Given the description of an element on the screen output the (x, y) to click on. 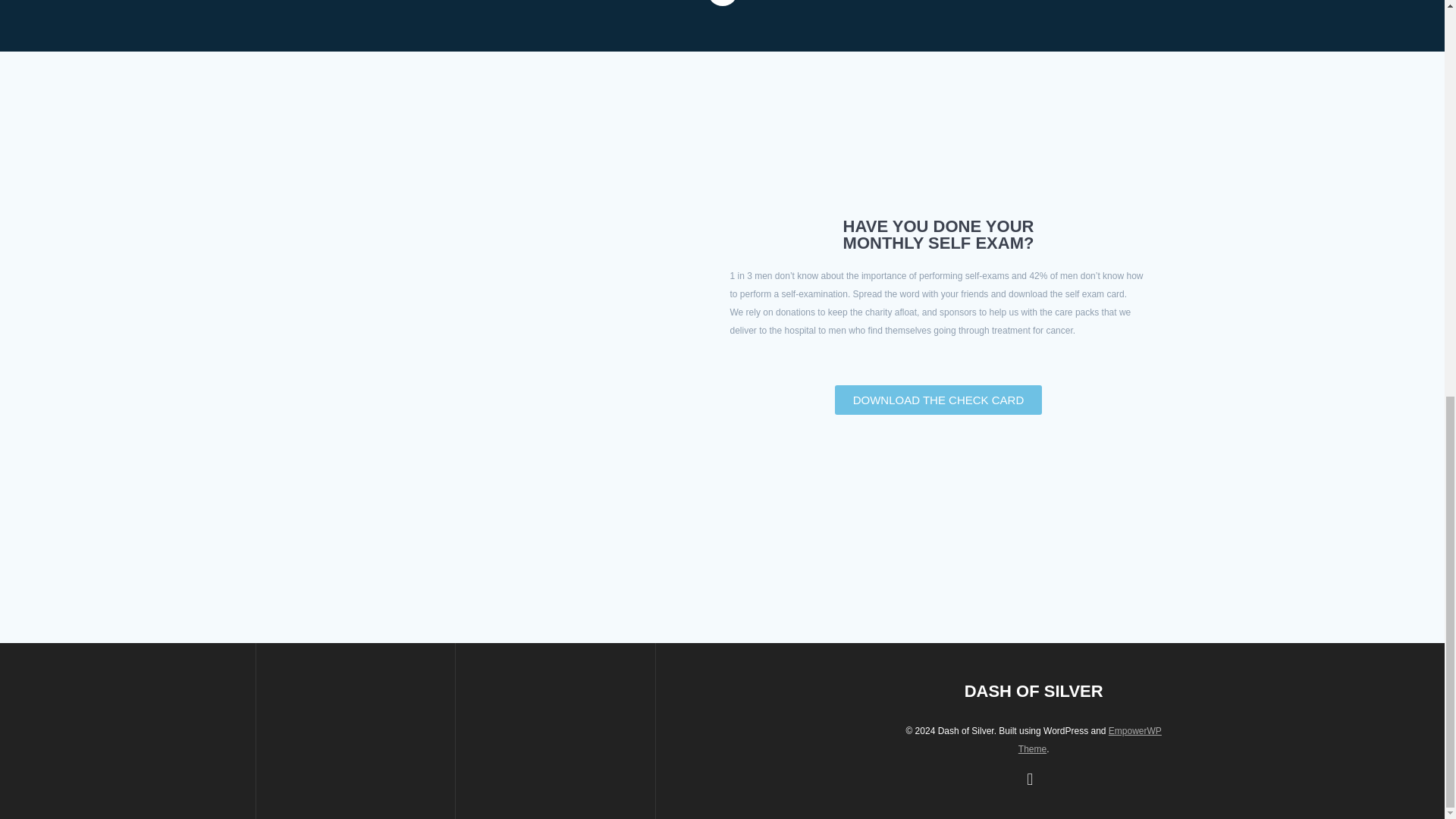
EmpowerWP Theme (1089, 739)
DOWNLOAD THE CHECK CARD (938, 399)
